Given the description of an element on the screen output the (x, y) to click on. 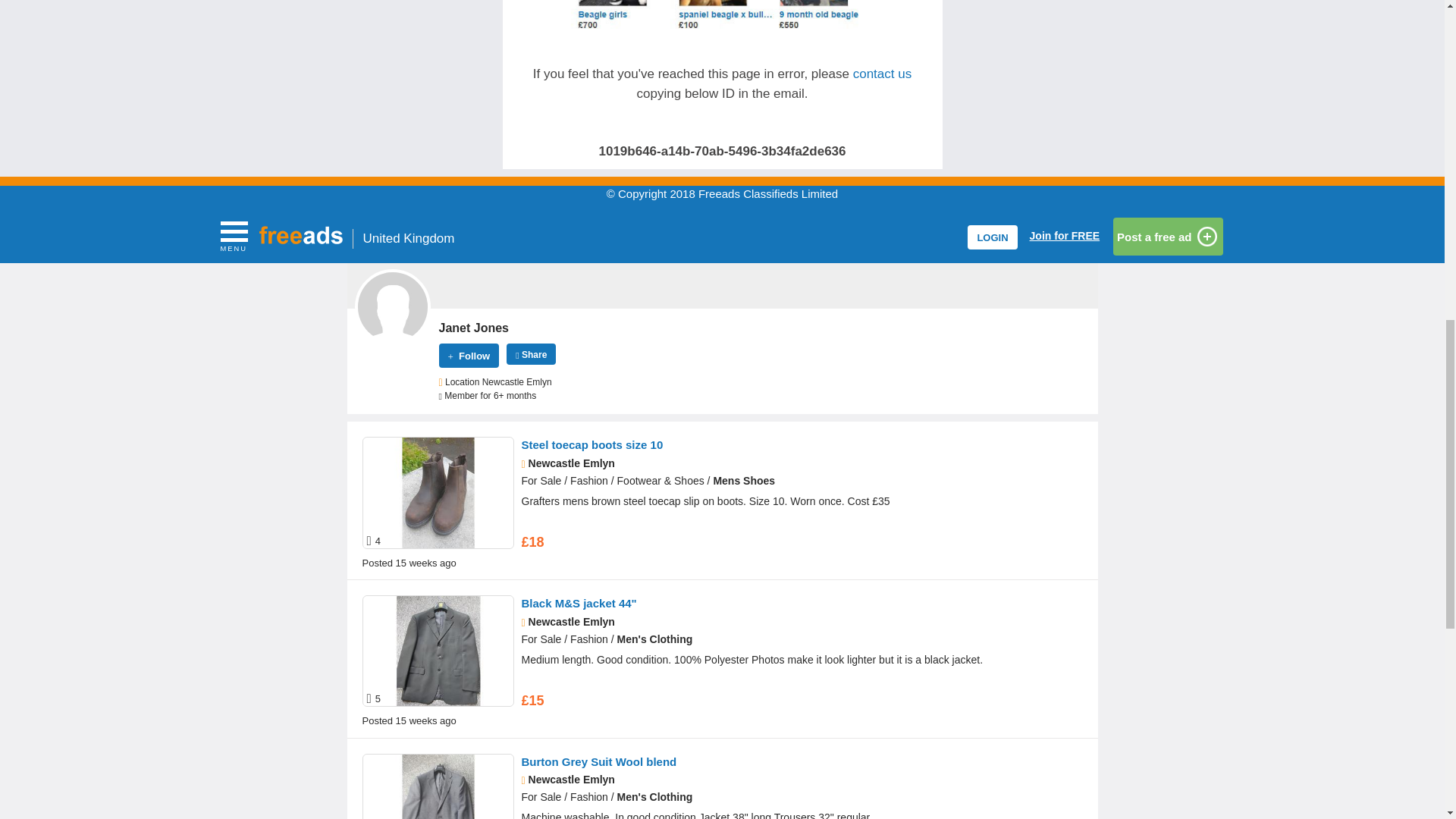
United Kingdom  (410, 237)
MENU (233, 232)
Steel toecap boots size 10 (592, 444)
LOGIN (992, 237)
contact us (882, 73)
  Follow (468, 355)
Post a free ad (1168, 236)
Burton Grey Suit Wool blend (599, 761)
Join for FREE (1064, 235)
Share (531, 353)
